Given the description of an element on the screen output the (x, y) to click on. 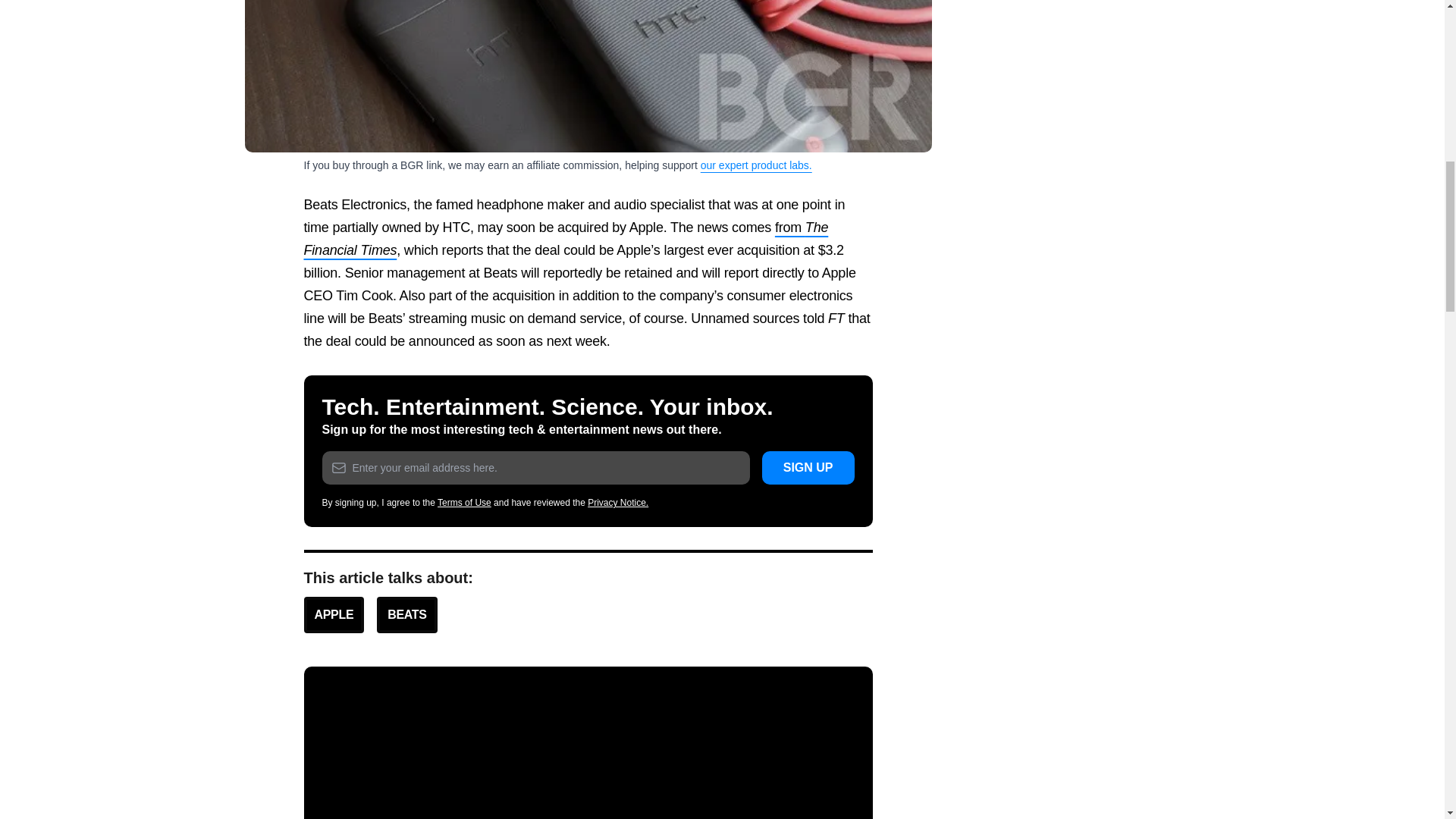
Apple Beats Acquisition (587, 76)
